Given the description of an element on the screen output the (x, y) to click on. 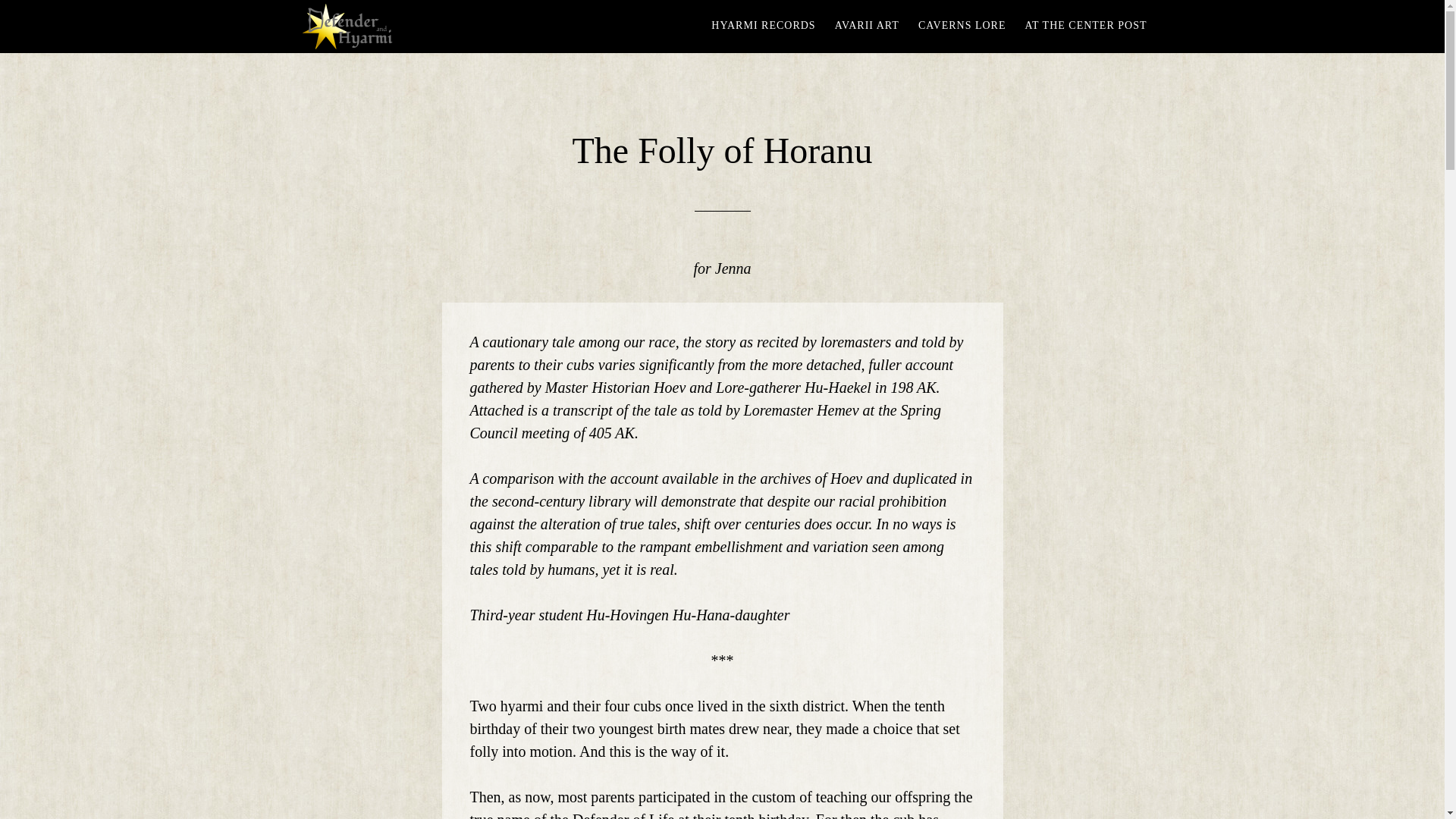
CAVERNS LORE (962, 25)
AVARII ART (867, 25)
HYARMI RECORDS (762, 25)
AT THE CENTER POST (1085, 25)
DEFENDER AND HYARMI (425, 26)
